Given the description of an element on the screen output the (x, y) to click on. 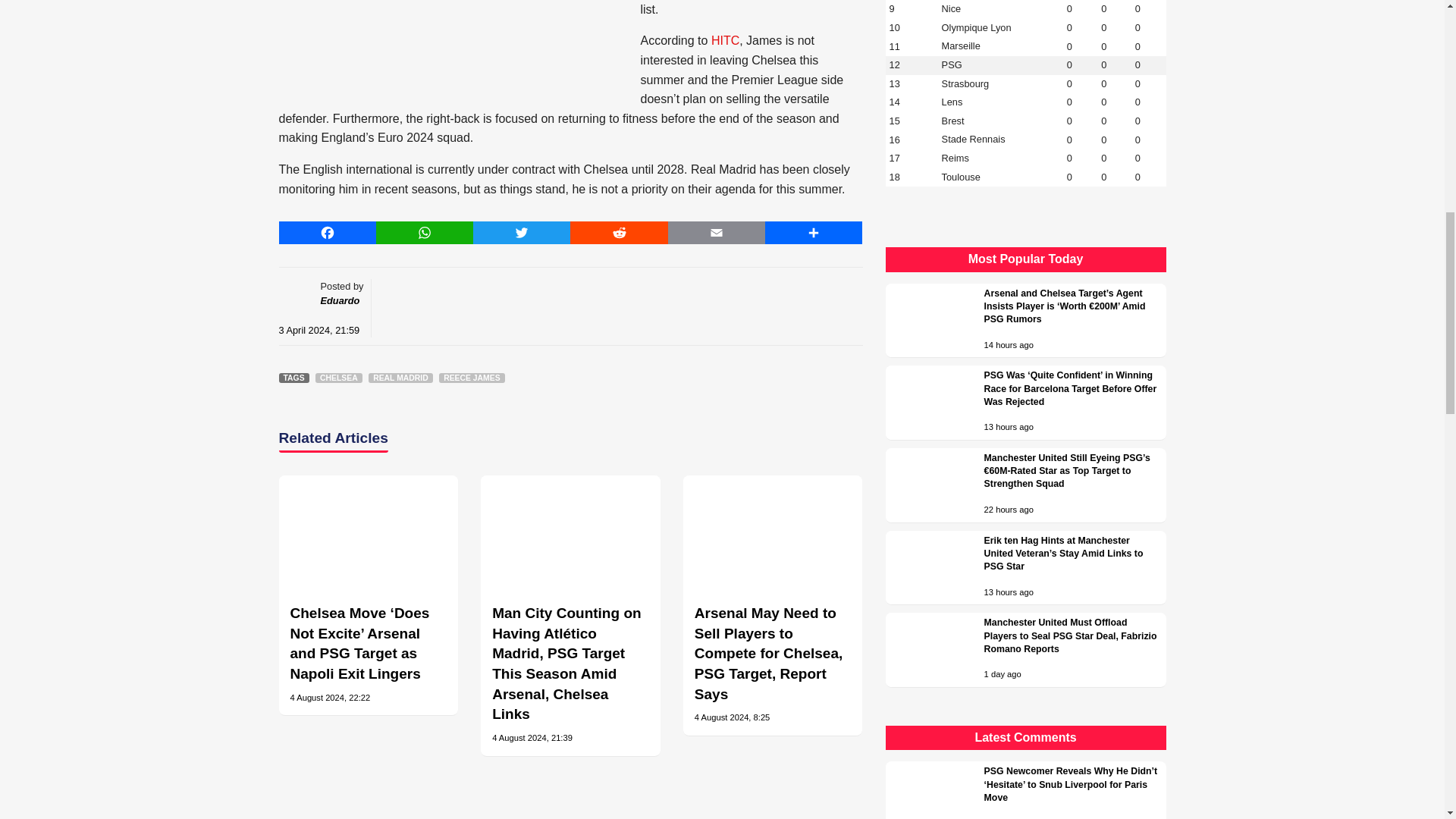
Facebook (327, 232)
Facebook (327, 232)
Twitter (521, 232)
Reddit (618, 232)
HITC (725, 40)
WhatsApp (424, 232)
WhatsApp (424, 232)
Twitter (521, 232)
